Given the description of an element on the screen output the (x, y) to click on. 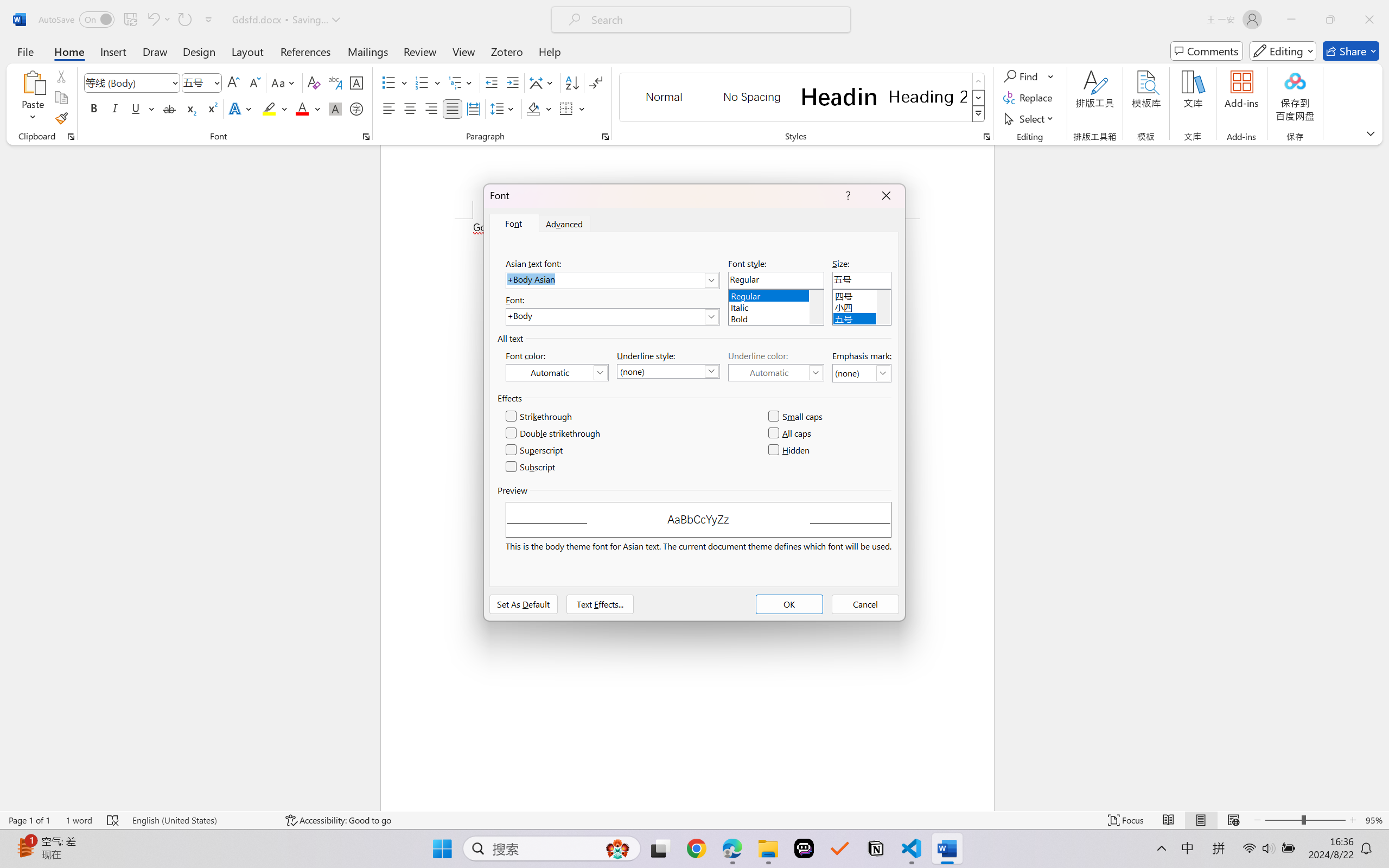
All caps (790, 433)
AutomationID: 1795 (815, 306)
Font Color (Automatic) (556, 372)
Set As Default (523, 603)
Multilevel List (461, 82)
